Given the description of an element on the screen output the (x, y) to click on. 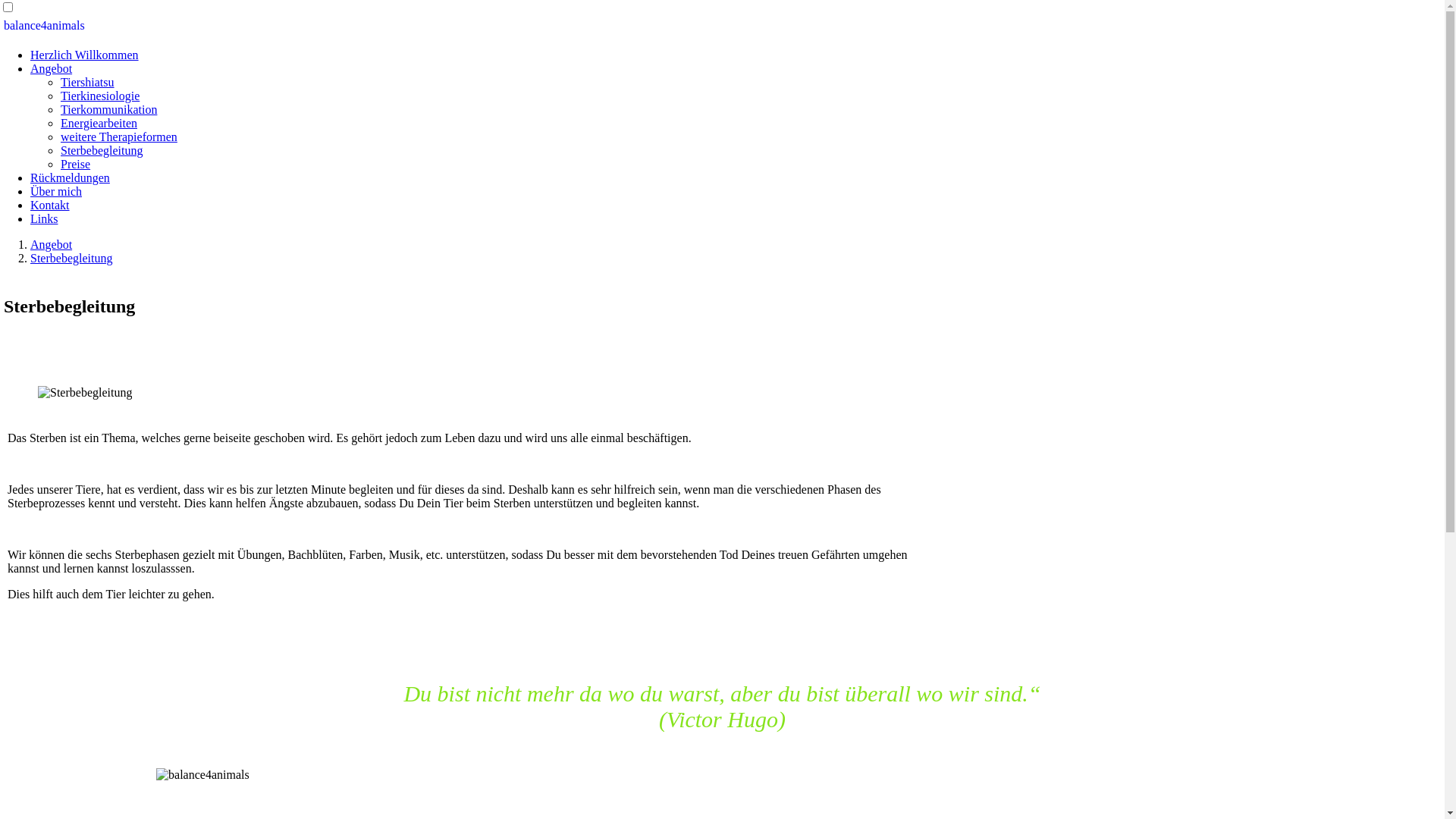
Kontakt Element type: text (49, 204)
Tiershiatsu Element type: text (87, 81)
Tierkinesiologie Element type: text (99, 95)
Tierkommunikation Element type: text (108, 109)
Sterbebegleitung Element type: text (101, 150)
Herzlich Willkommen Element type: text (84, 54)
Preise Element type: text (75, 163)
Sterbebegleitung Element type: text (71, 257)
Angebot Element type: text (51, 244)
balance4animals Element type: text (43, 24)
Links Element type: text (43, 218)
weitere Therapieformen Element type: text (118, 136)
Angebot Element type: text (51, 68)
Energiearbeiten Element type: text (98, 122)
